Given the description of an element on the screen output the (x, y) to click on. 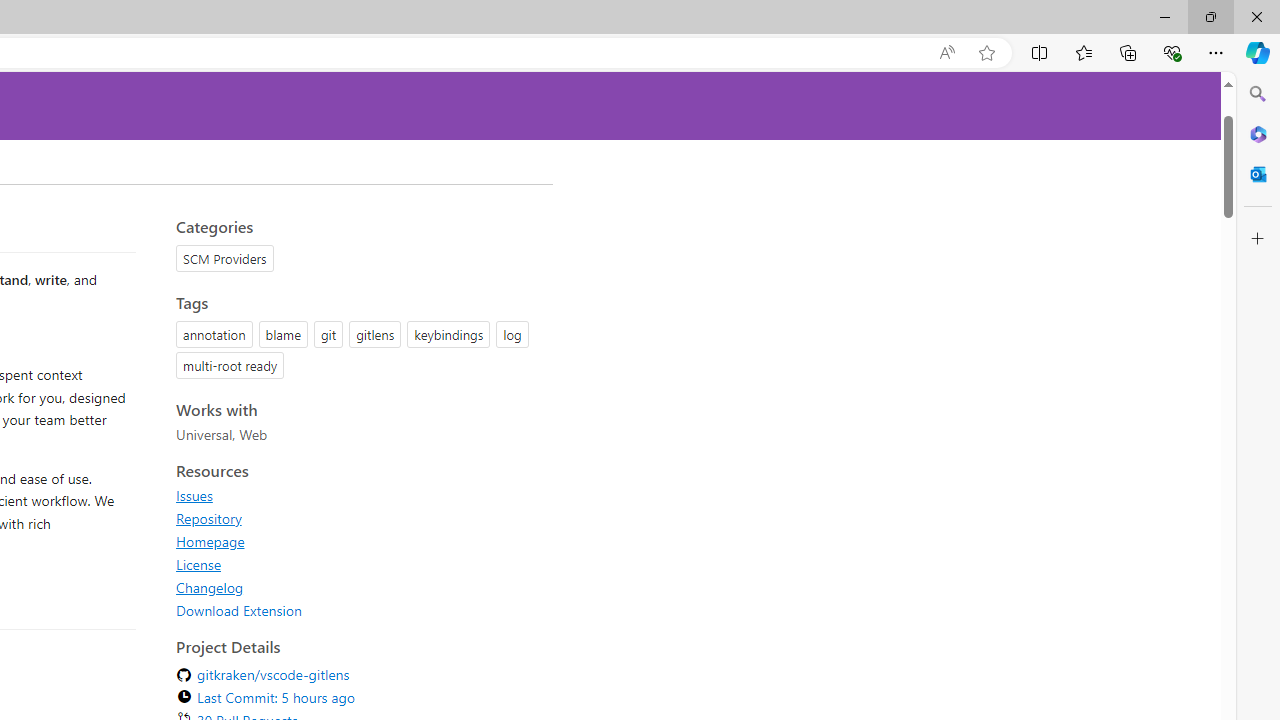
Repository (208, 518)
Download Extension (239, 610)
Issues (194, 495)
License (358, 564)
Download Extension (358, 610)
